Given the description of an element on the screen output the (x, y) to click on. 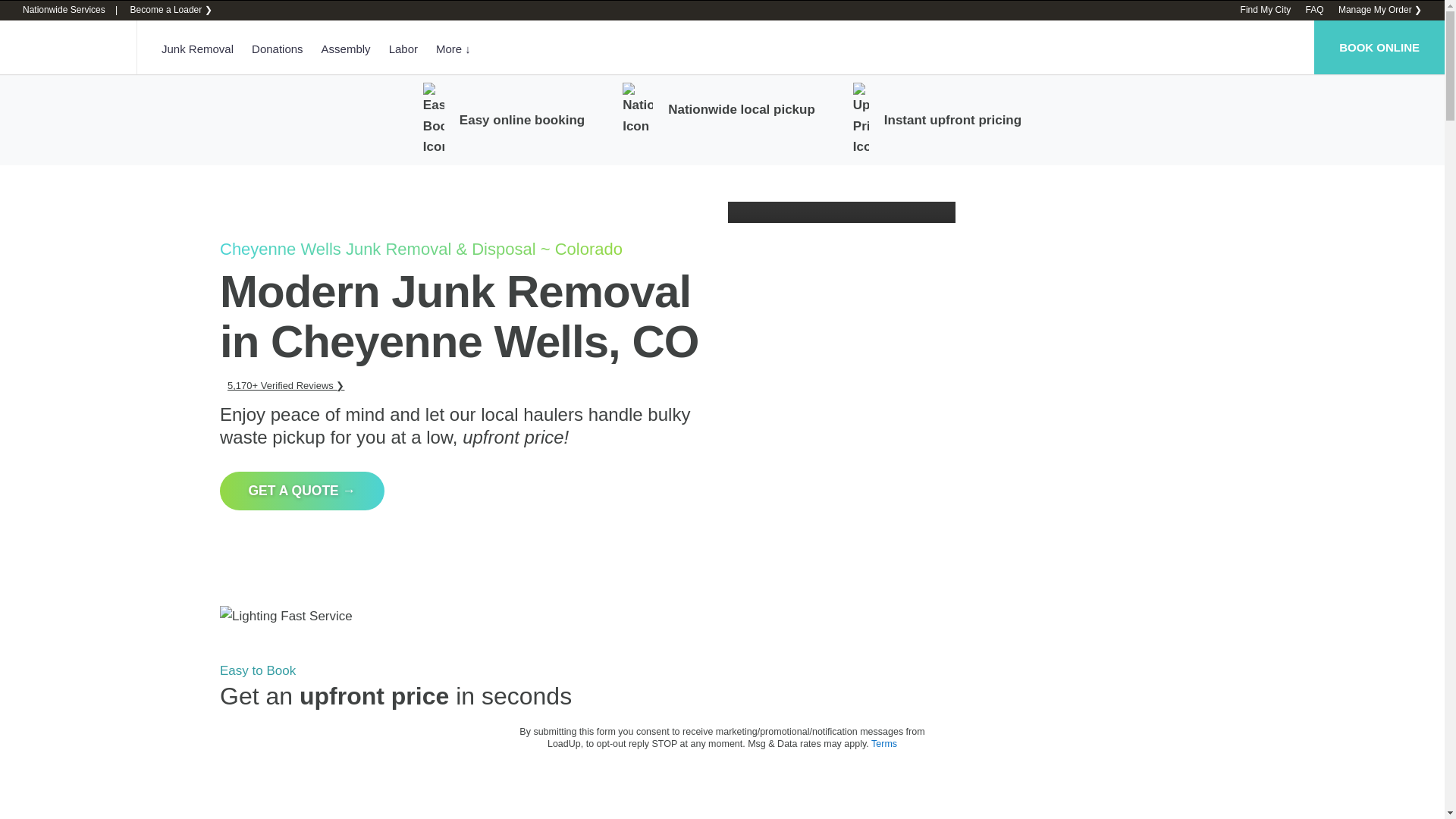
View LoadUp Customer Reviews (285, 385)
Become a Loader (170, 9)
Tracking My Order (1380, 9)
Knowledge Base (1313, 9)
Find My City (1265, 9)
